Given the description of an element on the screen output the (x, y) to click on. 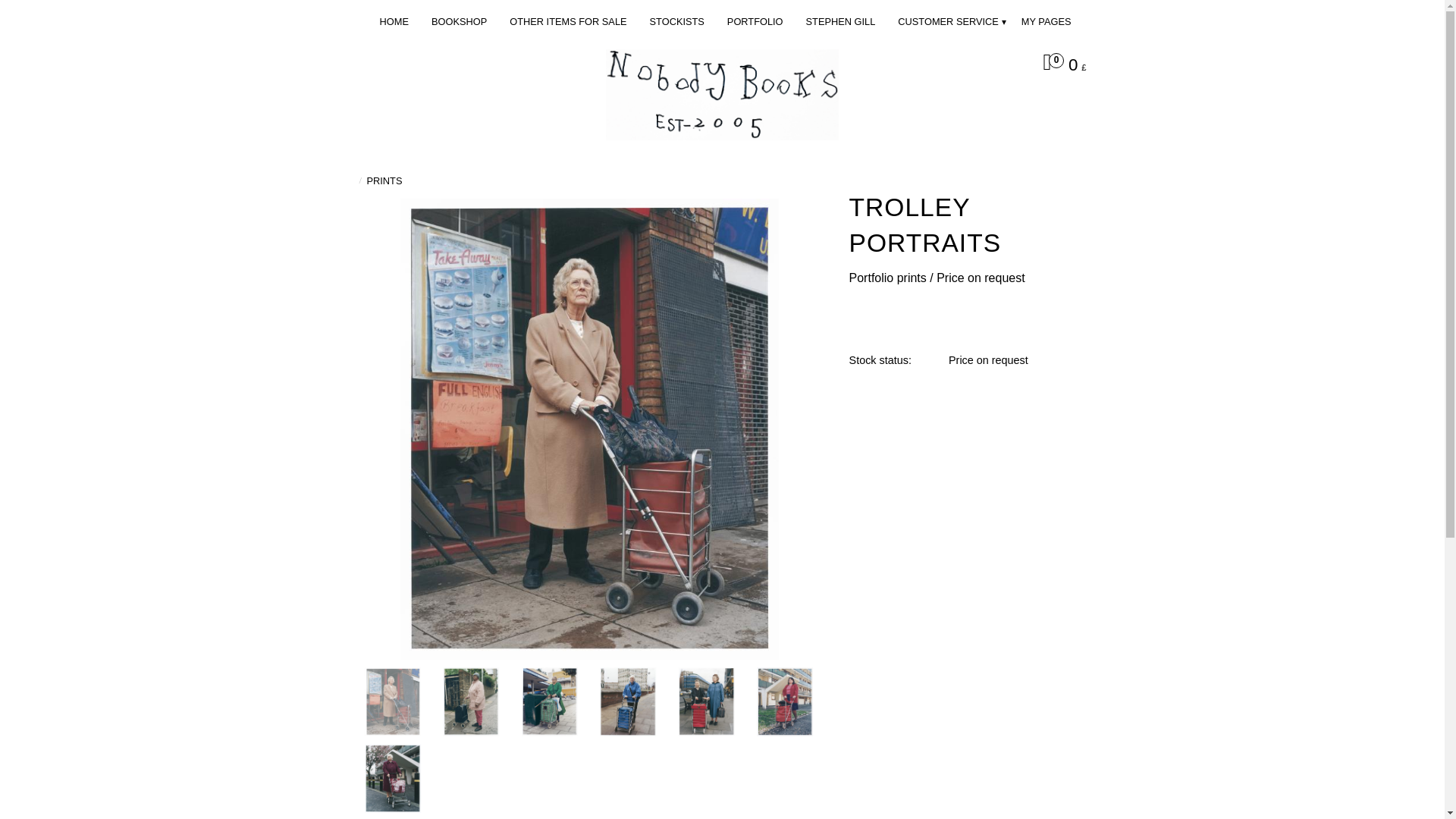
Stockists (680, 20)
OTHER ITEMS FOR SALE (571, 20)
My pages (1050, 20)
PORTFOLIO (758, 20)
OTHER ITEMS FOR SALE (571, 20)
Portfolio (758, 20)
Stephen Gill (844, 20)
Customer service (952, 20)
Bookshop (462, 20)
PRINTS (383, 180)
MY PAGES (1050, 20)
STEPHEN GILL (844, 20)
STOCKISTS (680, 20)
CUSTOMER SERVICE (952, 20)
BOOKSHOP (462, 20)
